Given the description of an element on the screen output the (x, y) to click on. 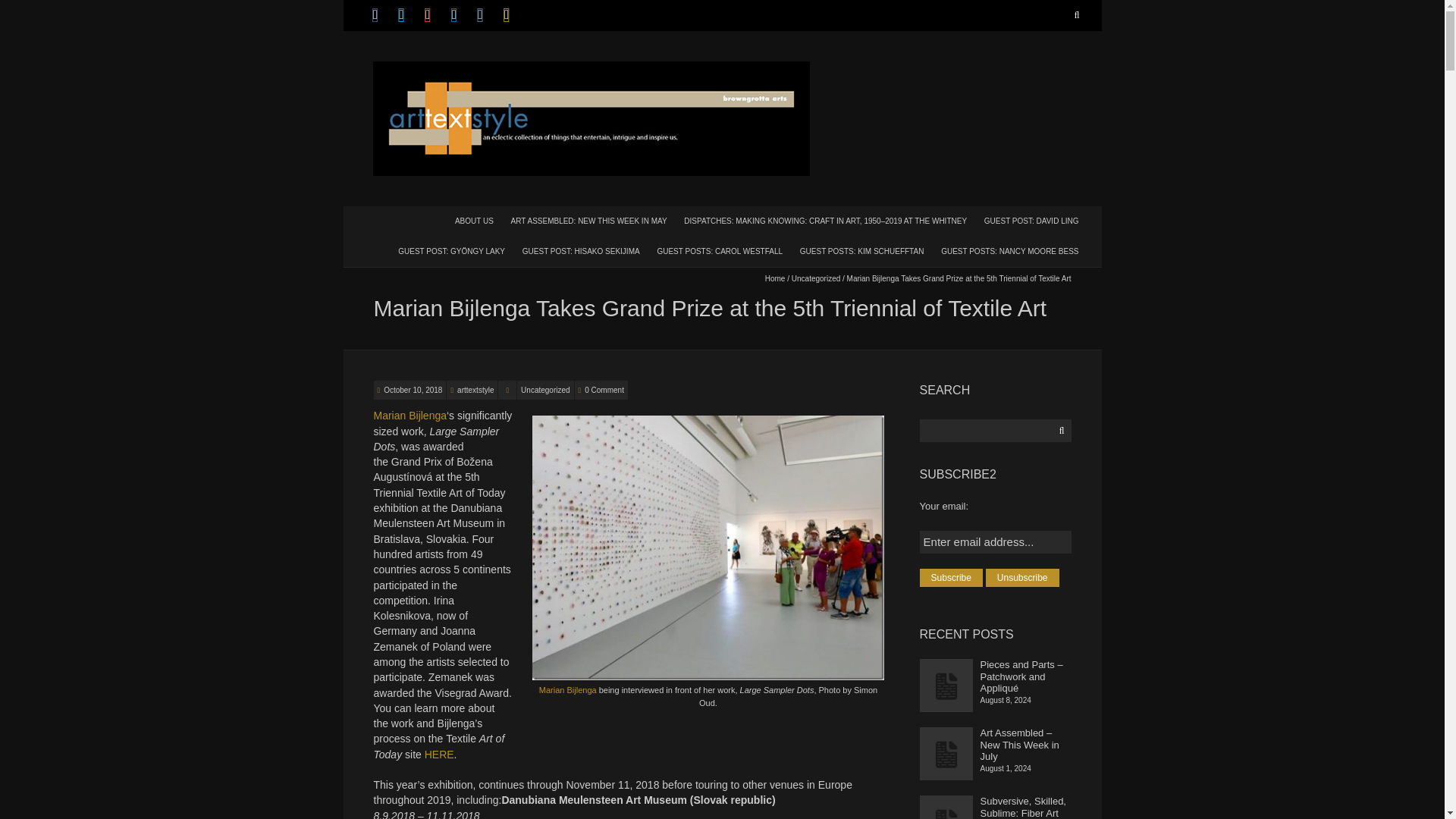
GUEST POSTS: CAROL WESTFALL (719, 250)
Uncategorized (816, 278)
Marian Bijlenga (409, 415)
Subscribe (951, 577)
GUEST POSTS: NANCY MOORE BESS (1009, 250)
GUEST POST: DAVID LING (1031, 220)
ART ASSEMBLED: NEW THIS WEEK IN MAY (589, 220)
Enter email address... (995, 541)
Category (506, 389)
Uncategorized (544, 389)
